Given the description of an element on the screen output the (x, y) to click on. 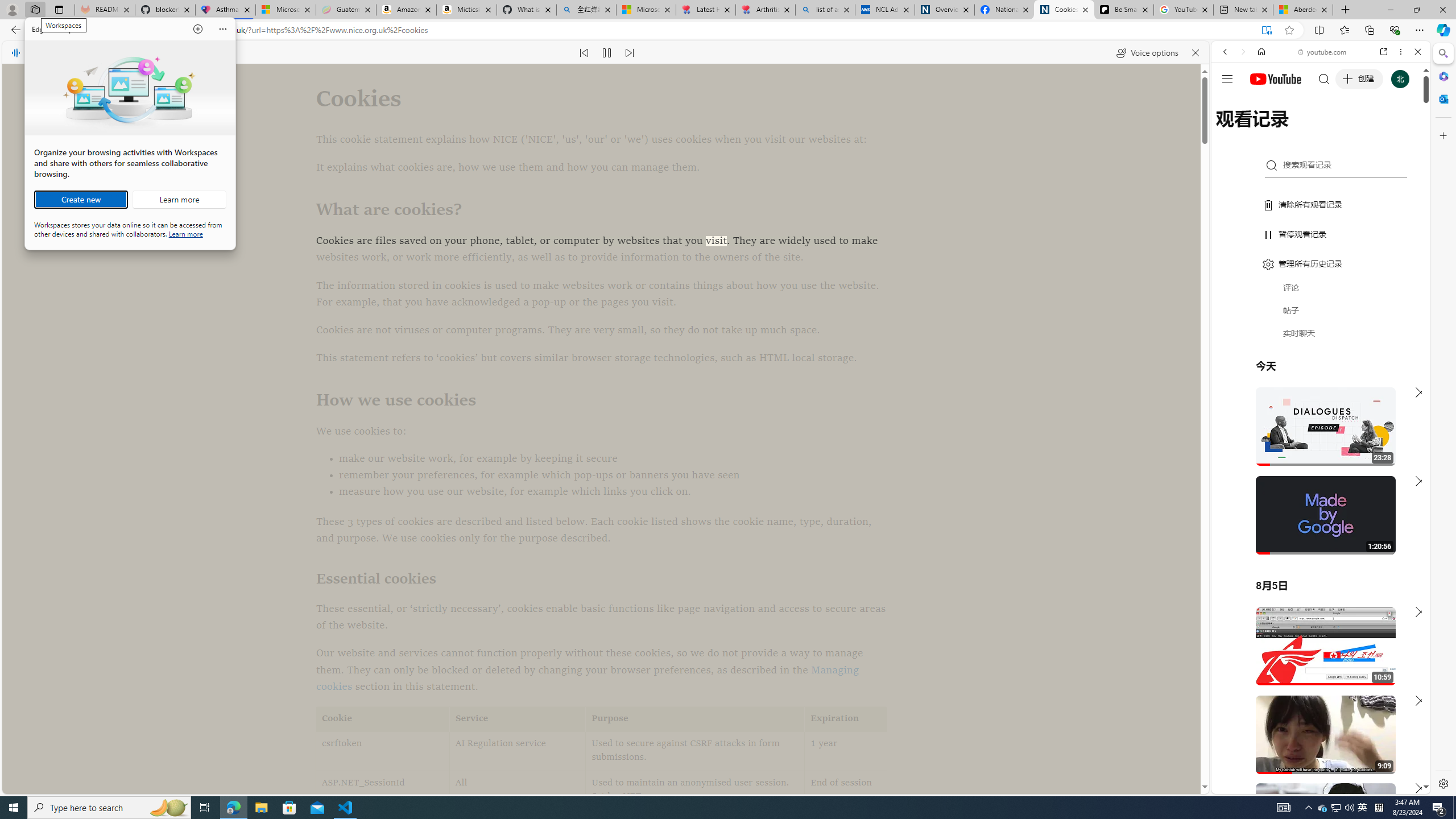
#you (1320, 253)
Start (13, 807)
YouTube (1315, 655)
Type here to search (108, 807)
youtube.com (1322, 51)
Show desktop (1454, 807)
Trailer #2 [HD] (1320, 337)
Search Filter, Search Tools (1350, 129)
